Given the description of an element on the screen output the (x, y) to click on. 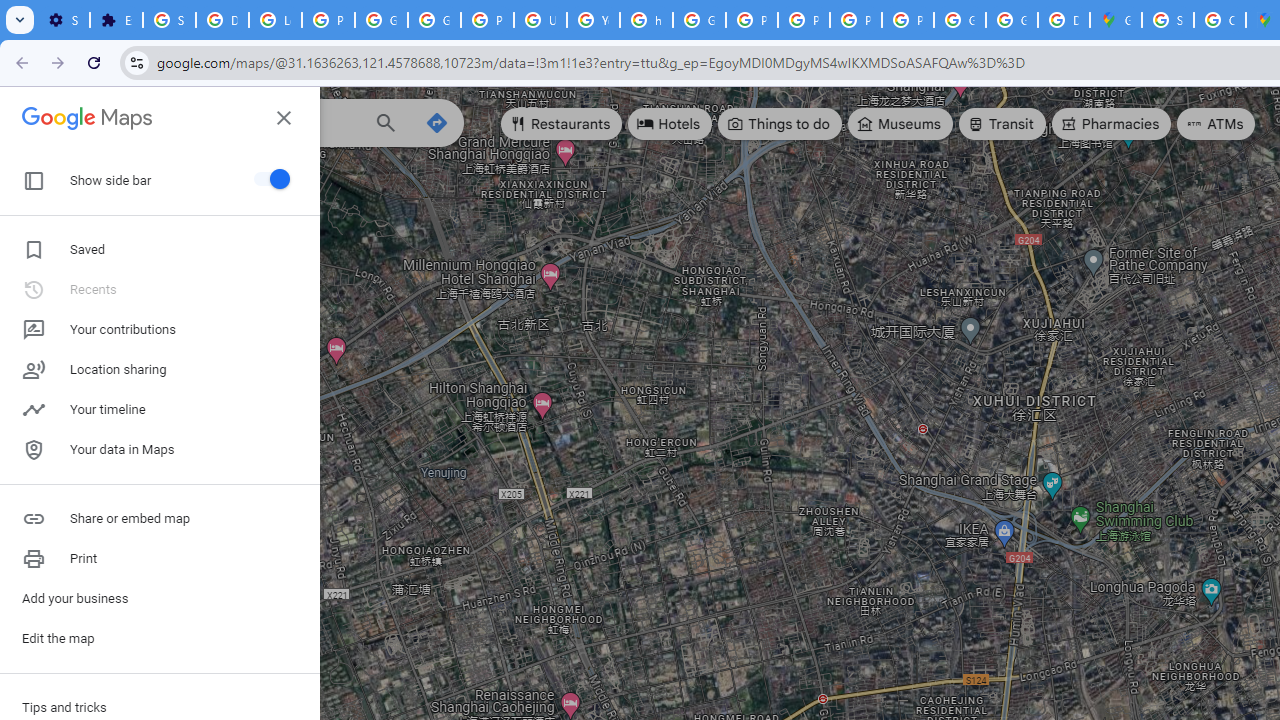
Directions (436, 122)
Search Google Maps (235, 121)
Things to do (780, 124)
Add your business (159, 598)
Menu (35, 120)
Google Account Help (381, 20)
YouTube (593, 20)
Location sharing (159, 369)
